Given the description of an element on the screen output the (x, y) to click on. 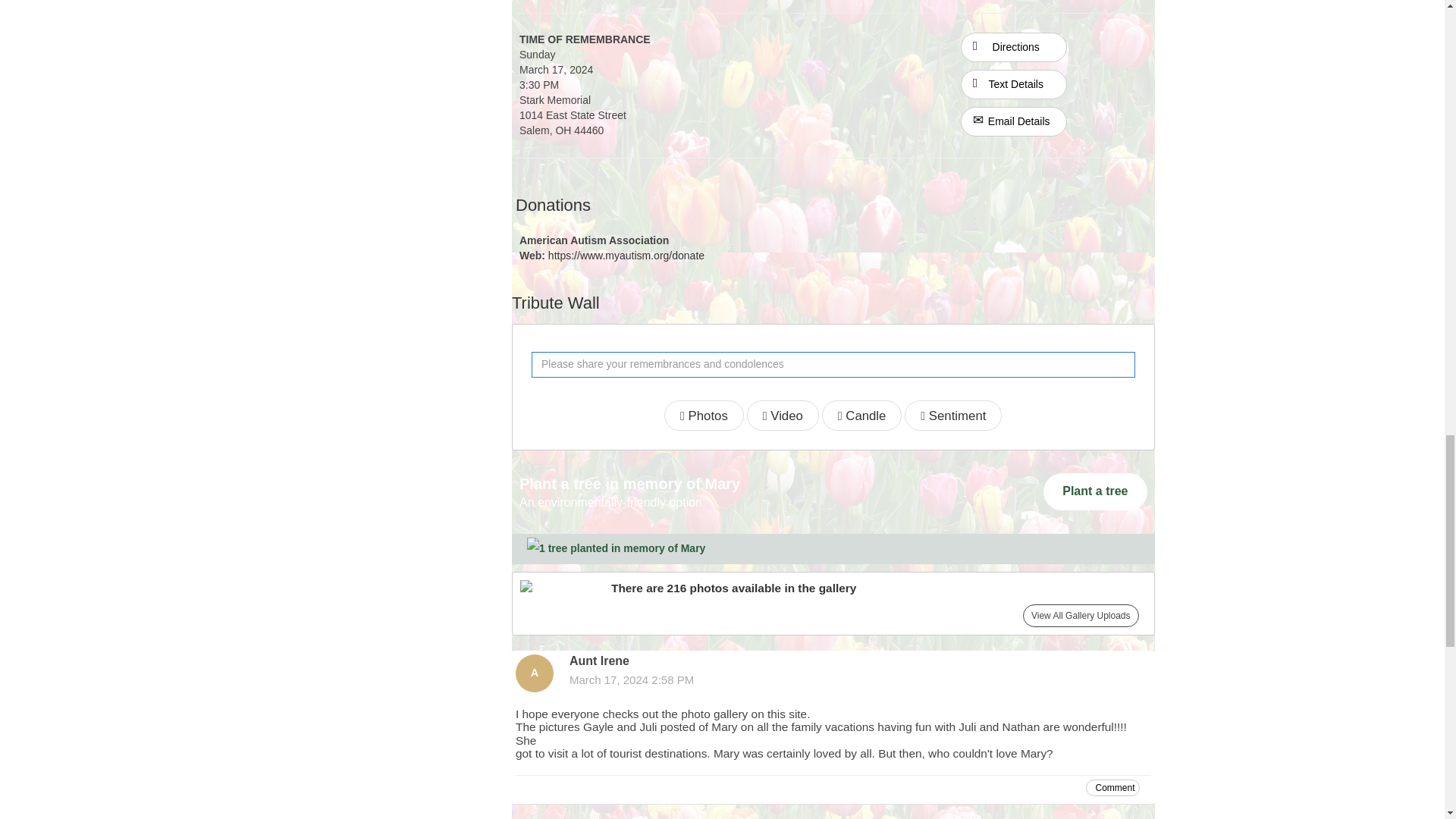
Directions (1013, 47)
Email Details (1013, 121)
Directions (1013, 46)
Aunt Irene (534, 673)
Text Details (1013, 84)
Plant a tree (1095, 491)
